Given the description of an element on the screen output the (x, y) to click on. 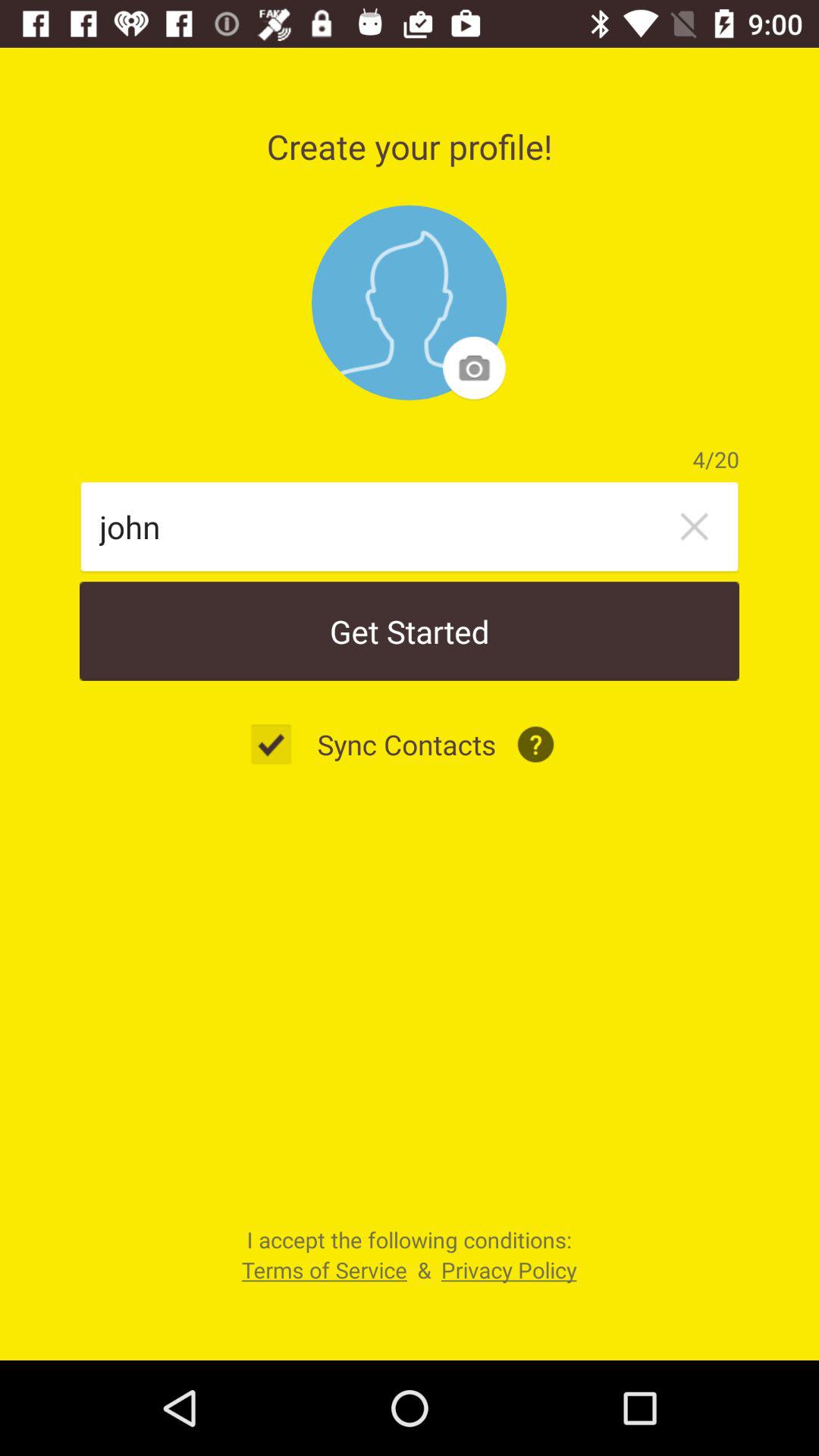
turn on the john item (384, 526)
